Given the description of an element on the screen output the (x, y) to click on. 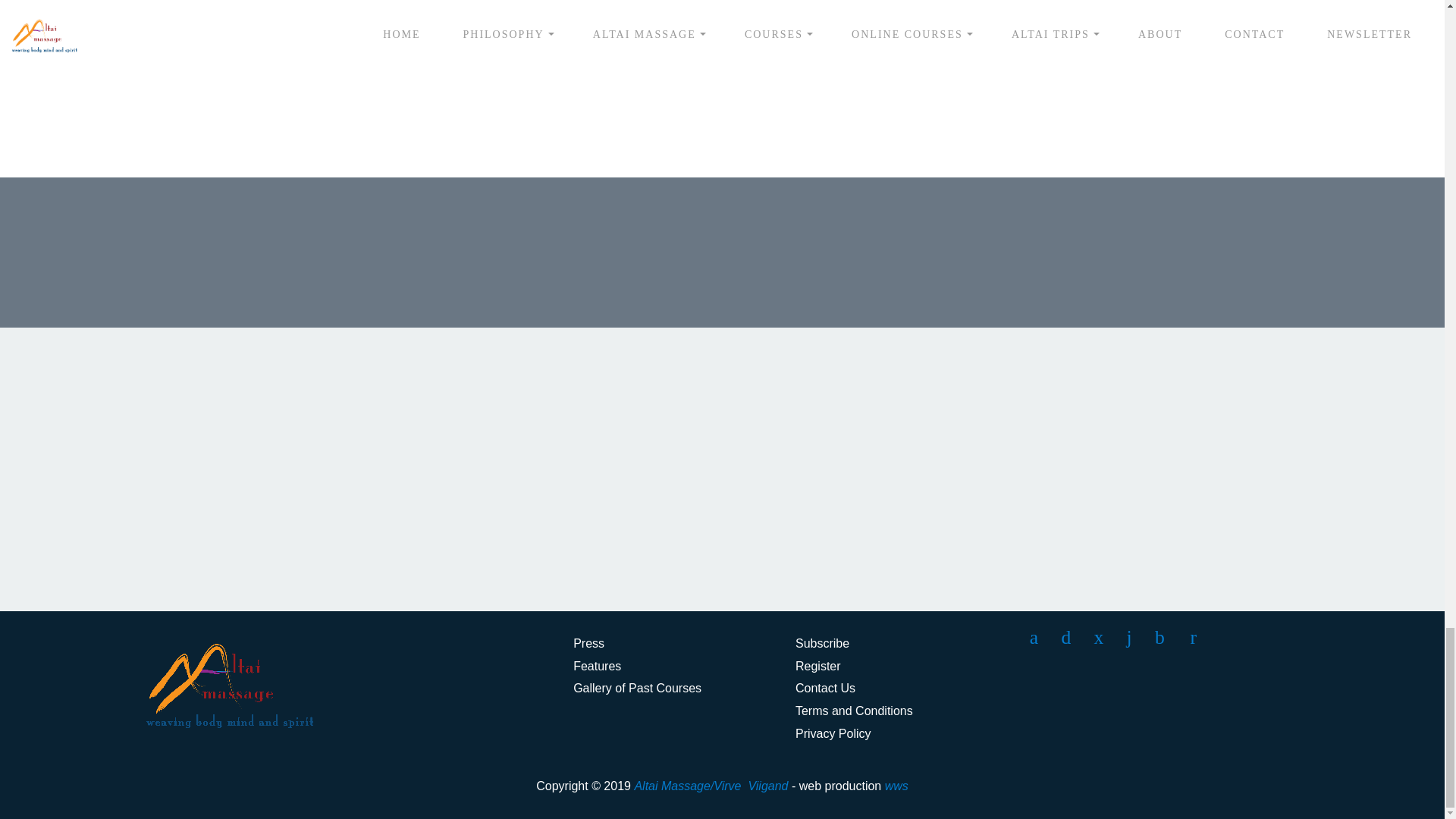
Subscribe (821, 643)
Press (588, 643)
Register (817, 666)
Gallery of Past Courses (637, 687)
Features (597, 666)
